Given the description of an element on the screen output the (x, y) to click on. 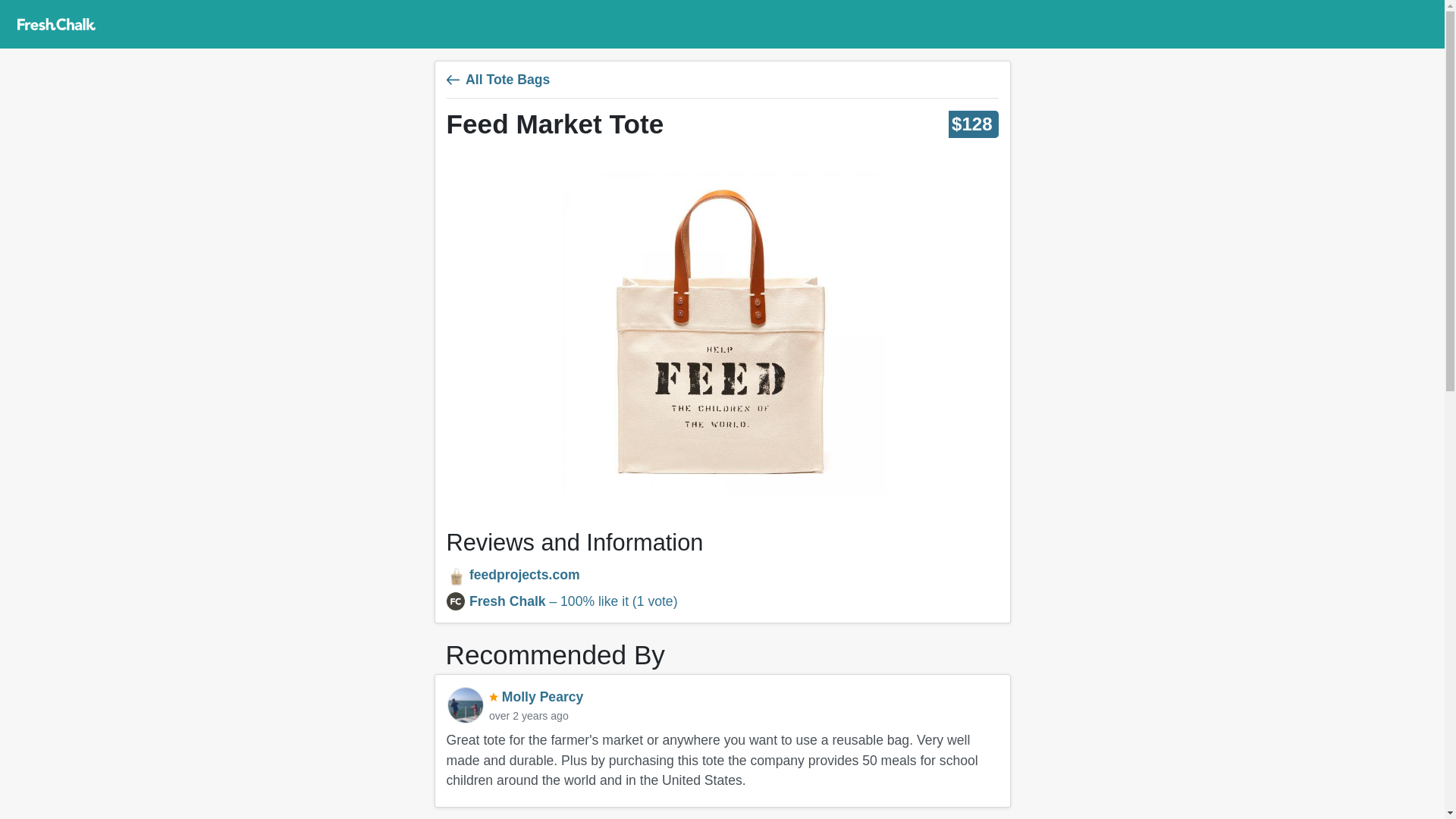
All Tote Bags (721, 85)
feedprojects.com (721, 576)
Molly Pearcy (464, 705)
Molly Pearcy (536, 696)
